Given the description of an element on the screen output the (x, y) to click on. 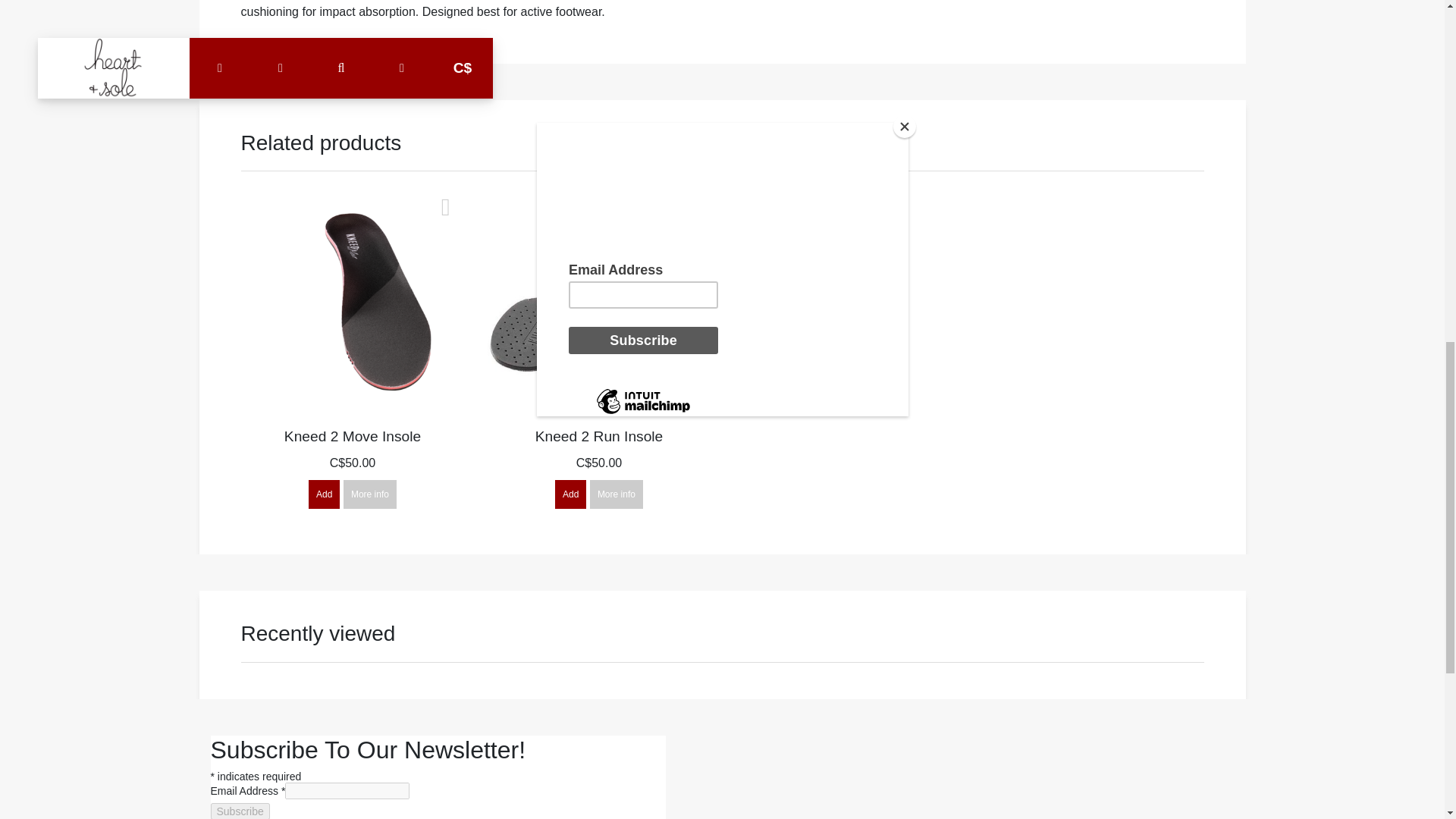
Subscribe (240, 811)
